Given the description of an element on the screen output the (x, y) to click on. 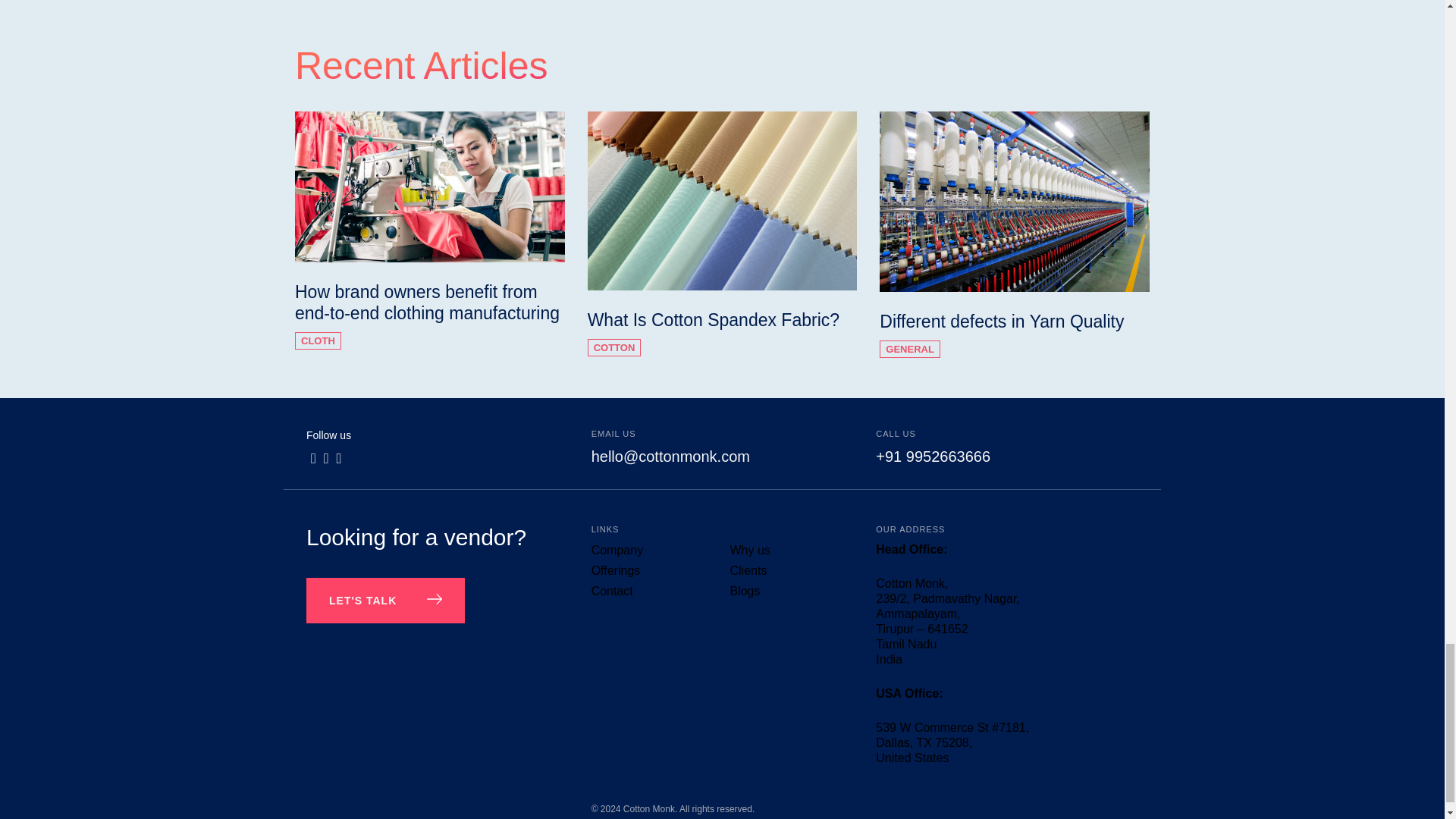
LET'S TALK (384, 600)
LET'S TALK (384, 600)
Contact (612, 590)
Click here to send us an email. (670, 456)
Clients (748, 570)
Offerings (615, 570)
Company (617, 549)
Blogs (744, 590)
Why us (749, 549)
